Given the description of an element on the screen output the (x, y) to click on. 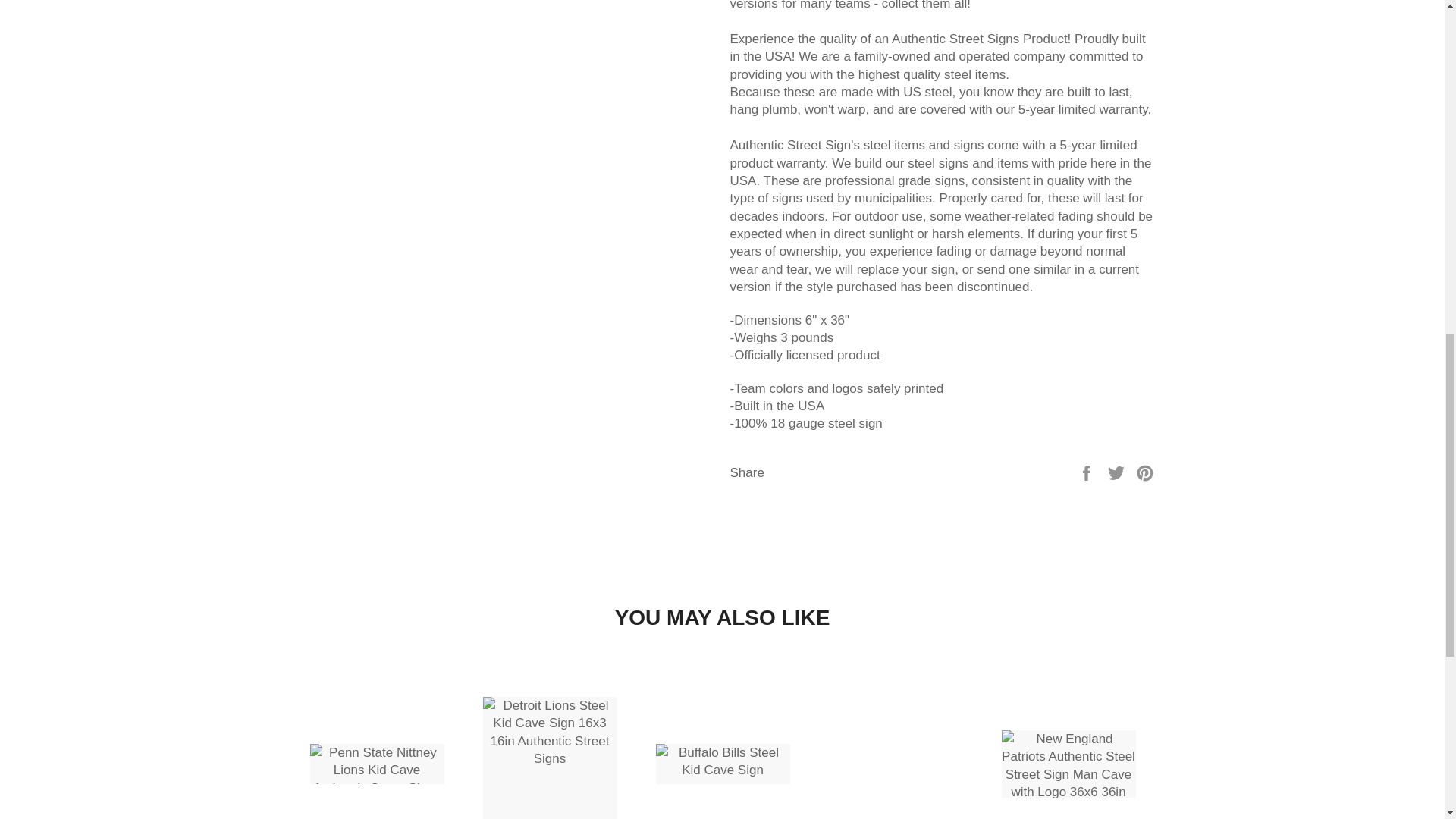
Tweet on Twitter (1117, 472)
Share on Facebook (1088, 472)
Pin on Pinterest (1144, 472)
